Given the description of an element on the screen output the (x, y) to click on. 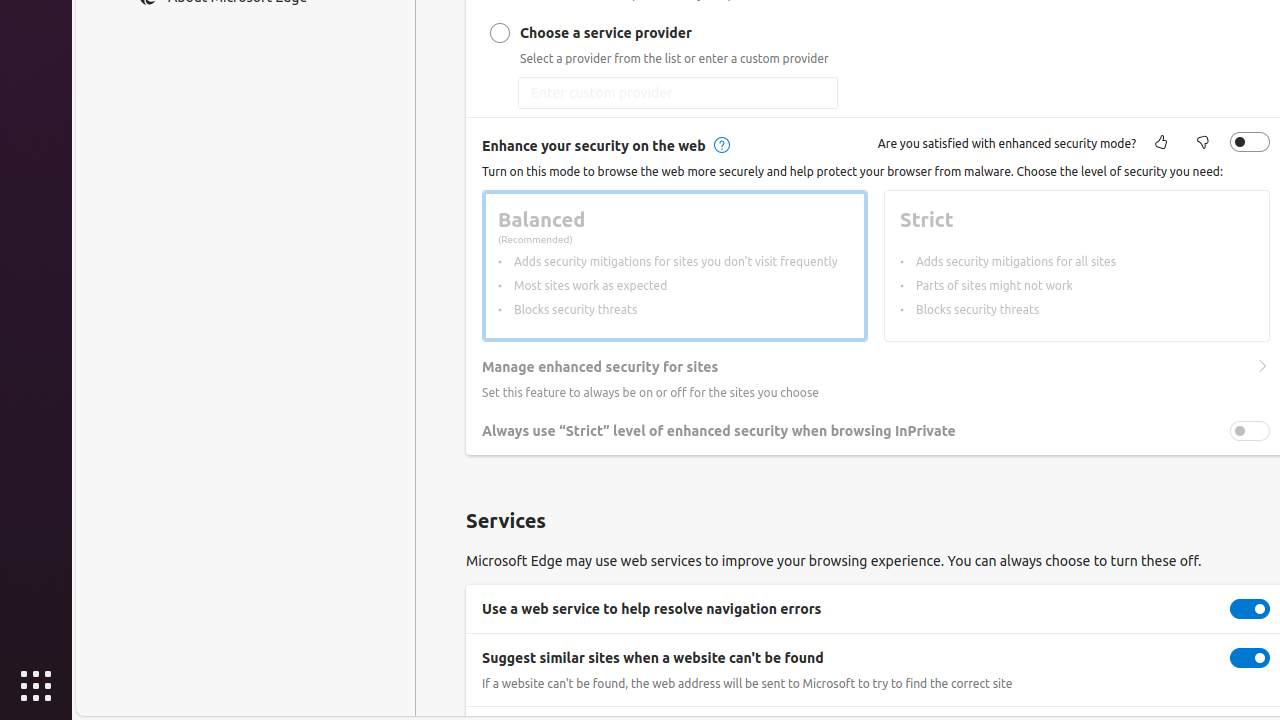
Manage enhanced security for sites Element type: push-button (1262, 367)
Suggest similar sites when a website can't be found Element type: check-box (1250, 658)
